Given the description of an element on the screen output the (x, y) to click on. 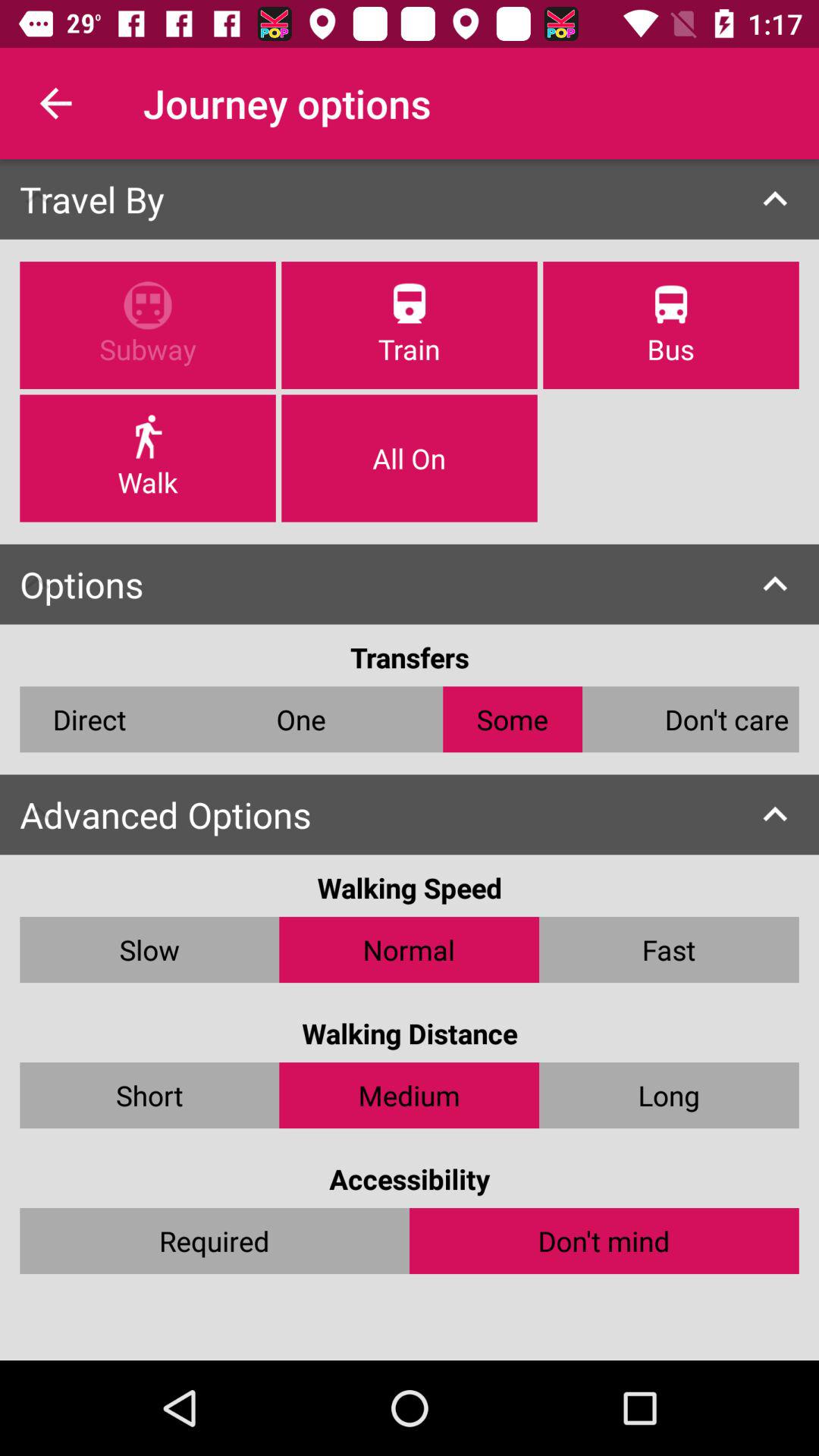
swipe until direct (89, 719)
